Given the description of an element on the screen output the (x, y) to click on. 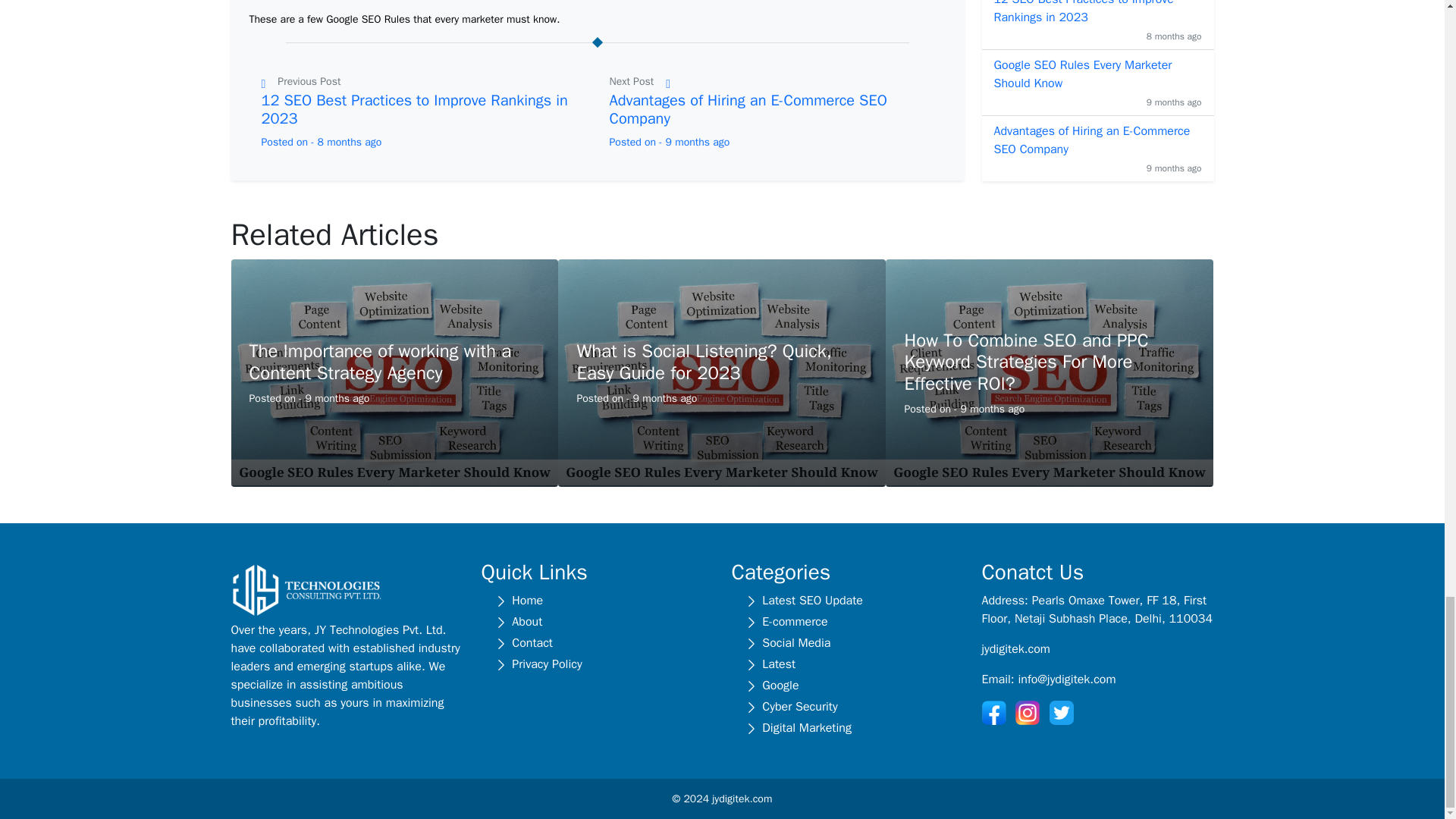
About (603, 621)
Home (603, 600)
E-commerce (852, 621)
Latest SEO Update (852, 600)
Social Media (852, 642)
Contact (603, 642)
Digital Marketing (852, 728)
